Given the description of an element on the screen output the (x, y) to click on. 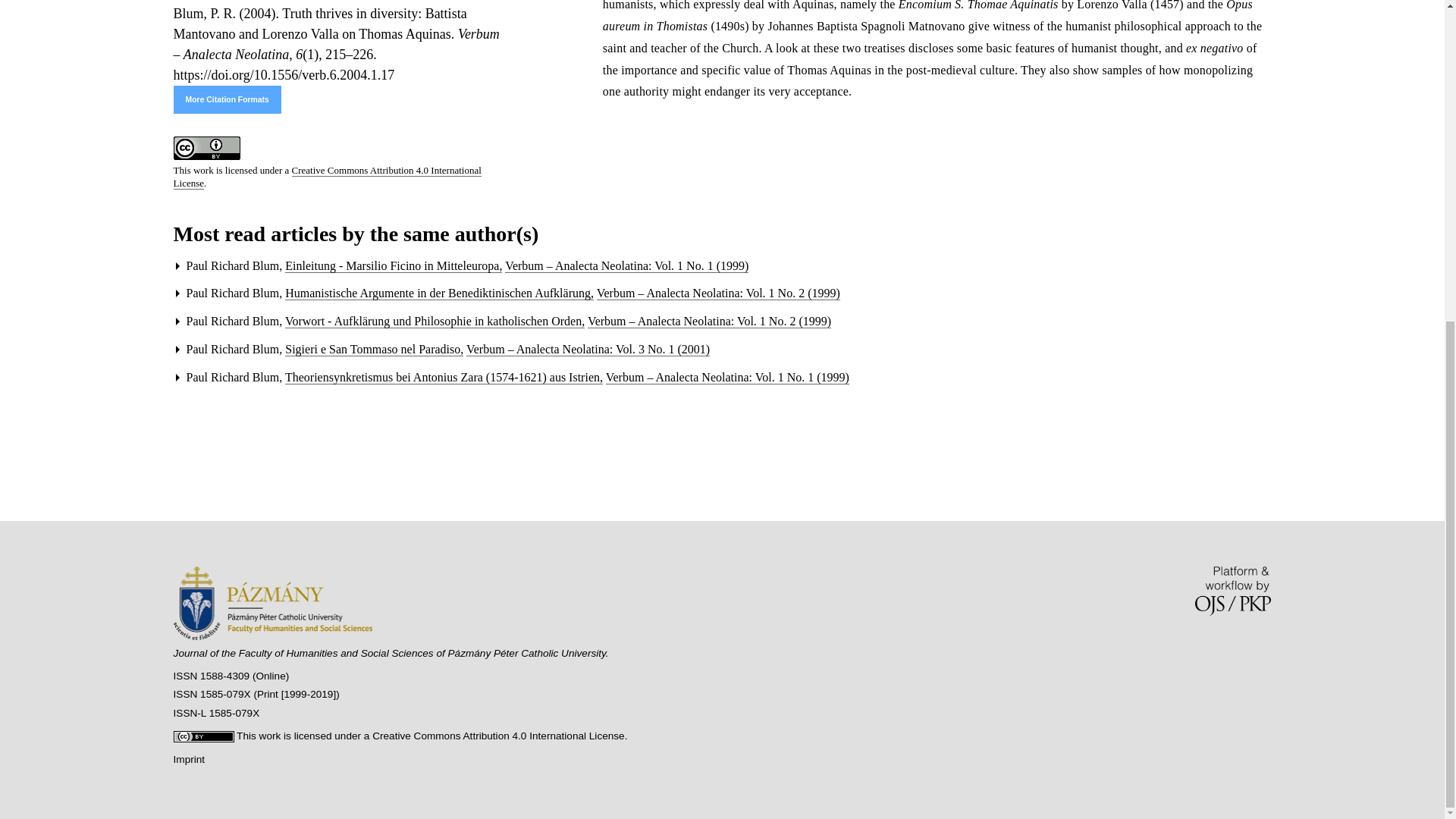
More Citation Formats (227, 99)
